Given the description of an element on the screen output the (x, y) to click on. 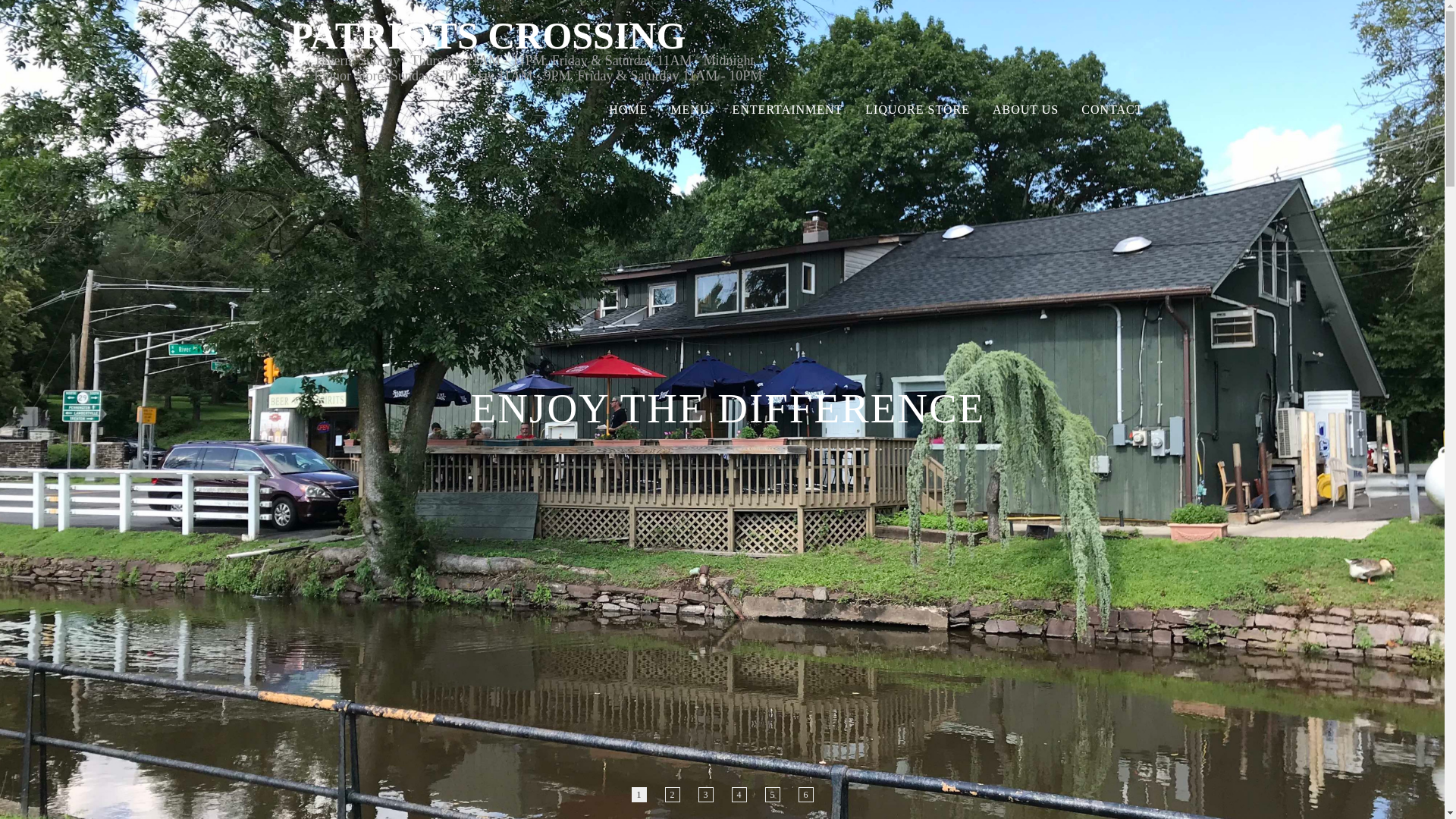
ABOUT US (1025, 109)
LIQUORE STORE (917, 109)
MENU (689, 109)
CONTACT (1112, 109)
ENTERTAINMENT (786, 109)
PATRIOTS CROSSING (487, 34)
CONTACT (1112, 109)
HOME (627, 109)
LIQUORE STORE (917, 109)
MENU (689, 109)
ABOUT US (1025, 109)
ENTERTAINMENT (786, 109)
